Given the description of an element on the screen output the (x, y) to click on. 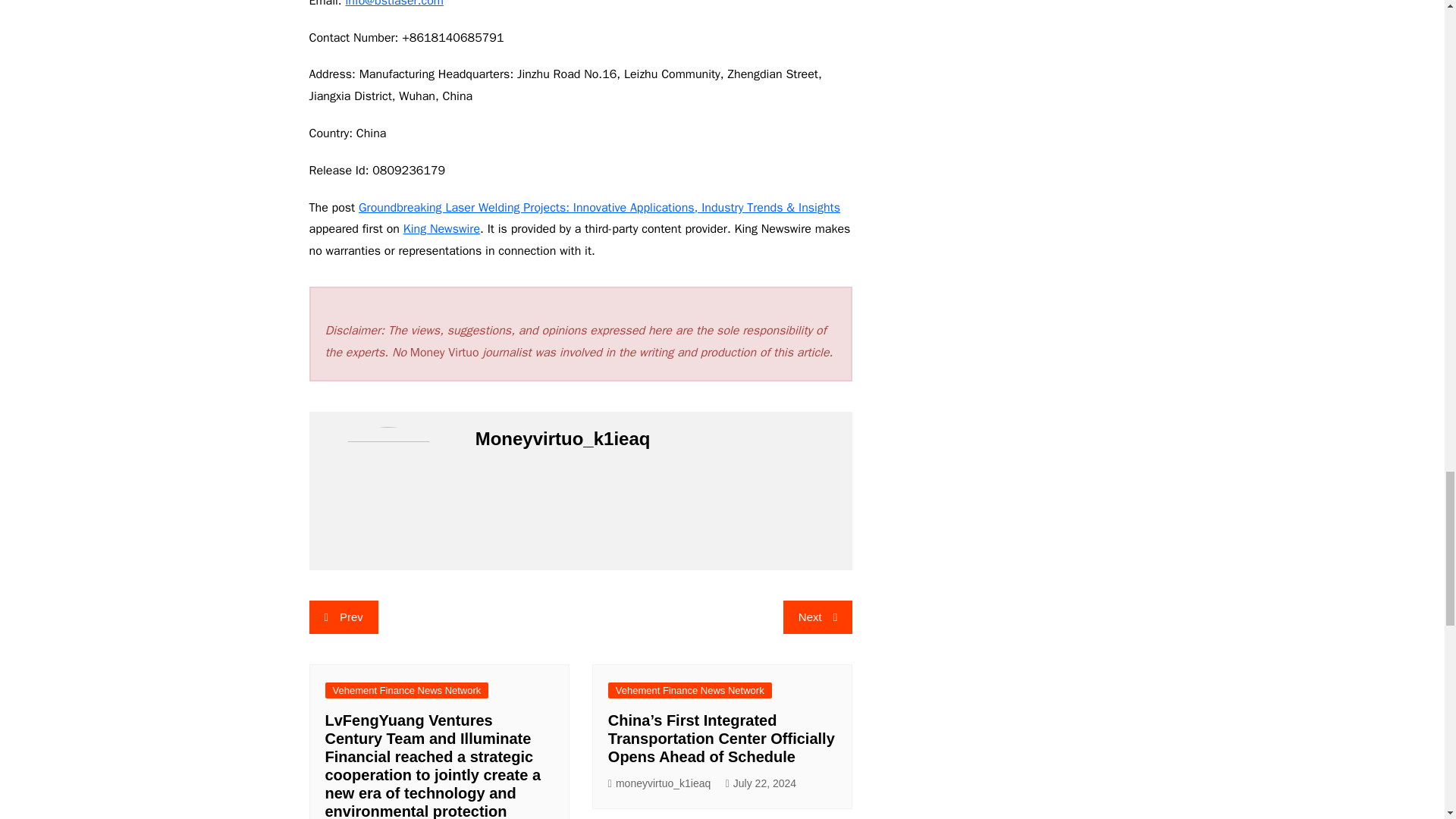
July 22, 2024 (760, 783)
King Newswire (441, 228)
Vehement Finance News Network (405, 690)
Prev (343, 616)
Vehement Finance News Network (689, 690)
Next (817, 616)
